Given the description of an element on the screen output the (x, y) to click on. 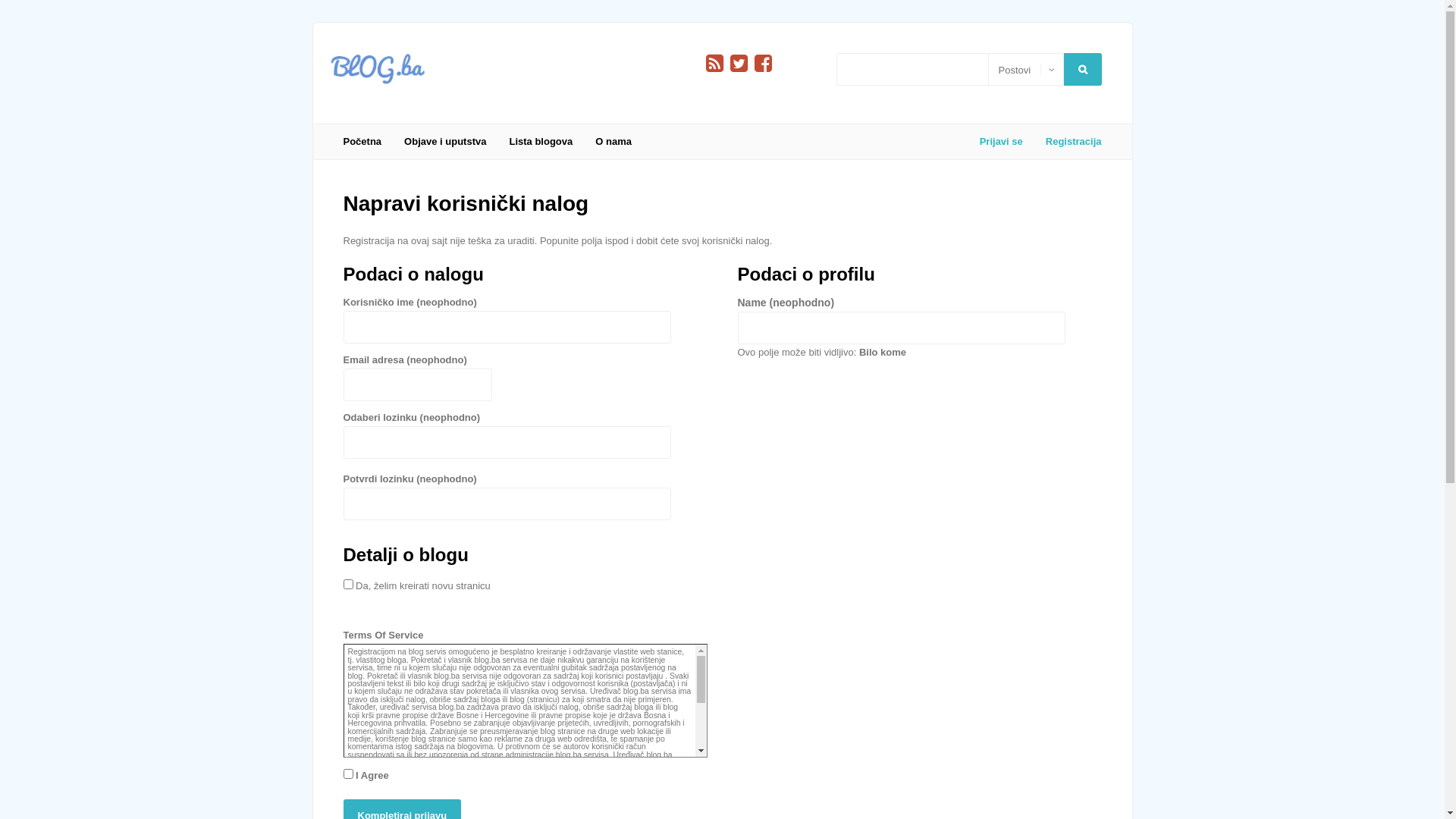
Twitter Element type: hover (738, 63)
Facebook Element type: hover (762, 63)
RSS Feed Element type: hover (714, 63)
Registracija Element type: text (1067, 141)
O nama Element type: text (613, 141)
Prijavi se Element type: text (1001, 141)
Lista blogova Element type: text (540, 141)
Objave i uputstva Element type: text (444, 141)
creativecommons.org Element type: text (384, 794)
Prijavi se Element type: text (63, 232)
